Given the description of an element on the screen output the (x, y) to click on. 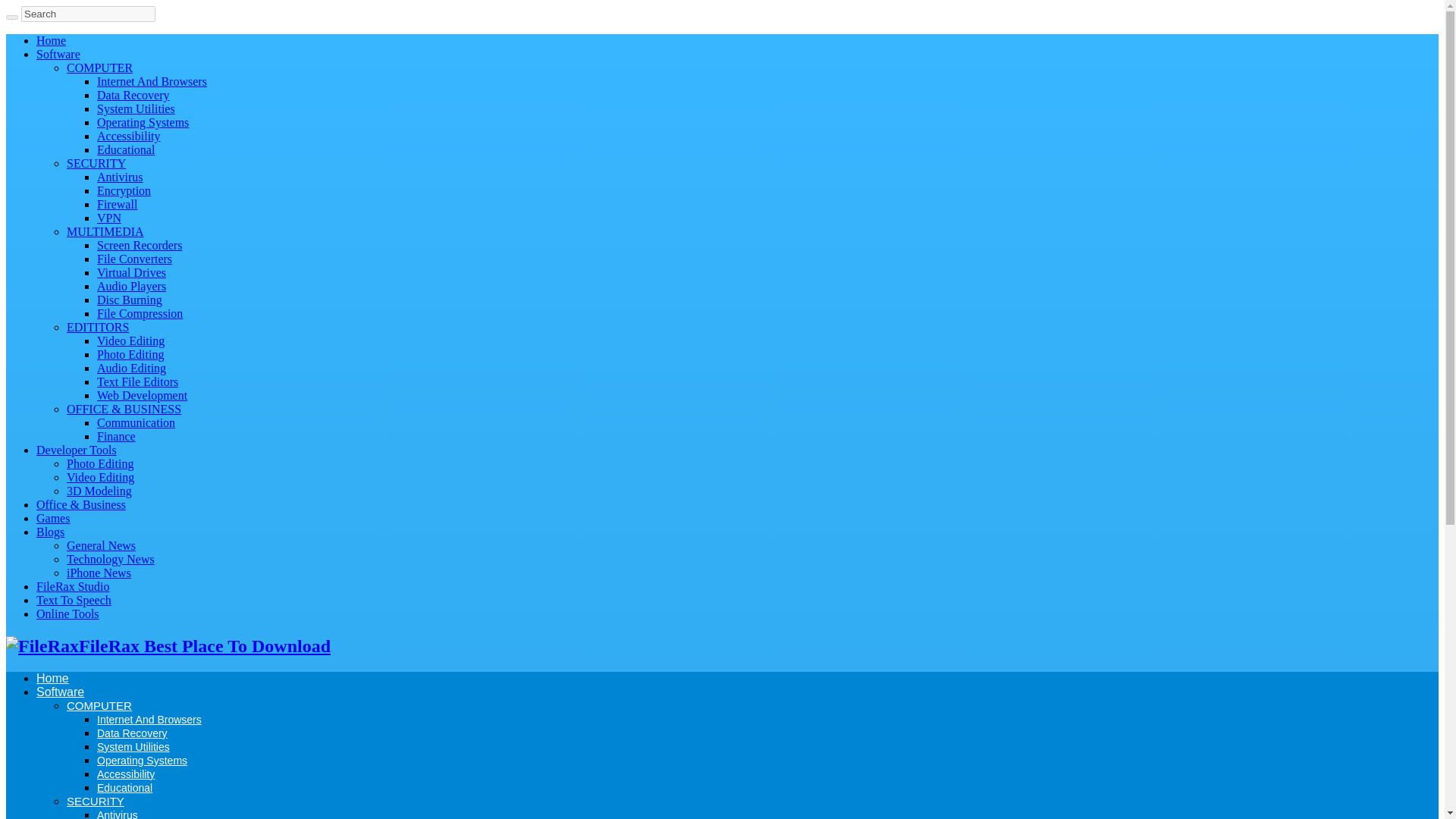
Web Development (142, 395)
File Converters (134, 258)
Text File Editors (137, 381)
Video Editing (99, 477)
Audio Players (131, 286)
FileRax (167, 646)
System Utilities (135, 108)
Disc Burning (129, 299)
Search (11, 17)
Audio Editing (131, 367)
